Given the description of an element on the screen output the (x, y) to click on. 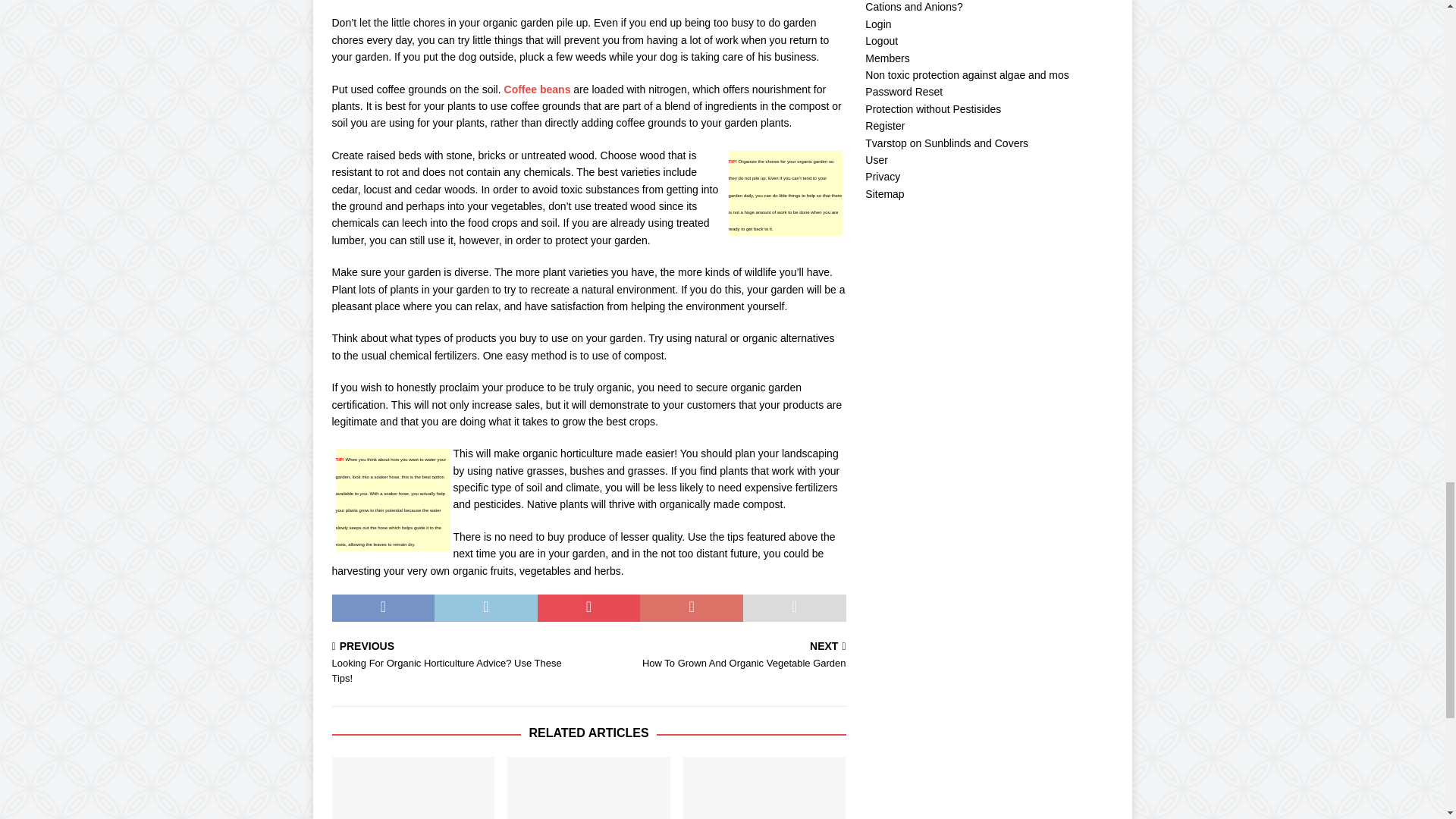
Coffee beans (536, 89)
Use These Organic Gardening Tips For Your Garden! (763, 787)
Useful Organic Gardening Tips, Tricks, And Techniques (720, 655)
Creative Ideas And Practical Horticulture Advice (413, 787)
